Given the description of an element on the screen output the (x, y) to click on. 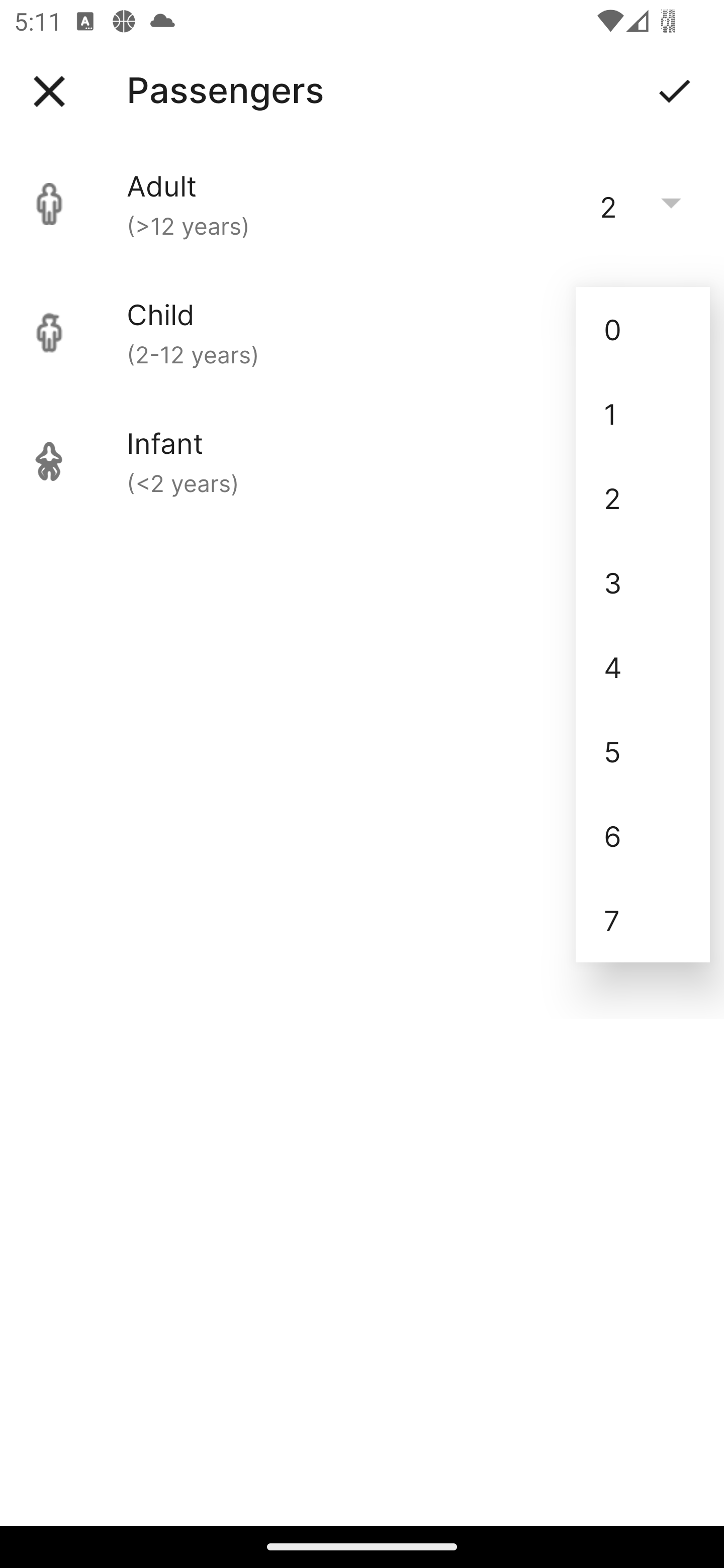
0 (642, 328)
1 (642, 413)
2 (642, 498)
3 (642, 582)
4 (642, 666)
5 (642, 750)
6 (642, 835)
7 (642, 920)
